Given the description of an element on the screen output the (x, y) to click on. 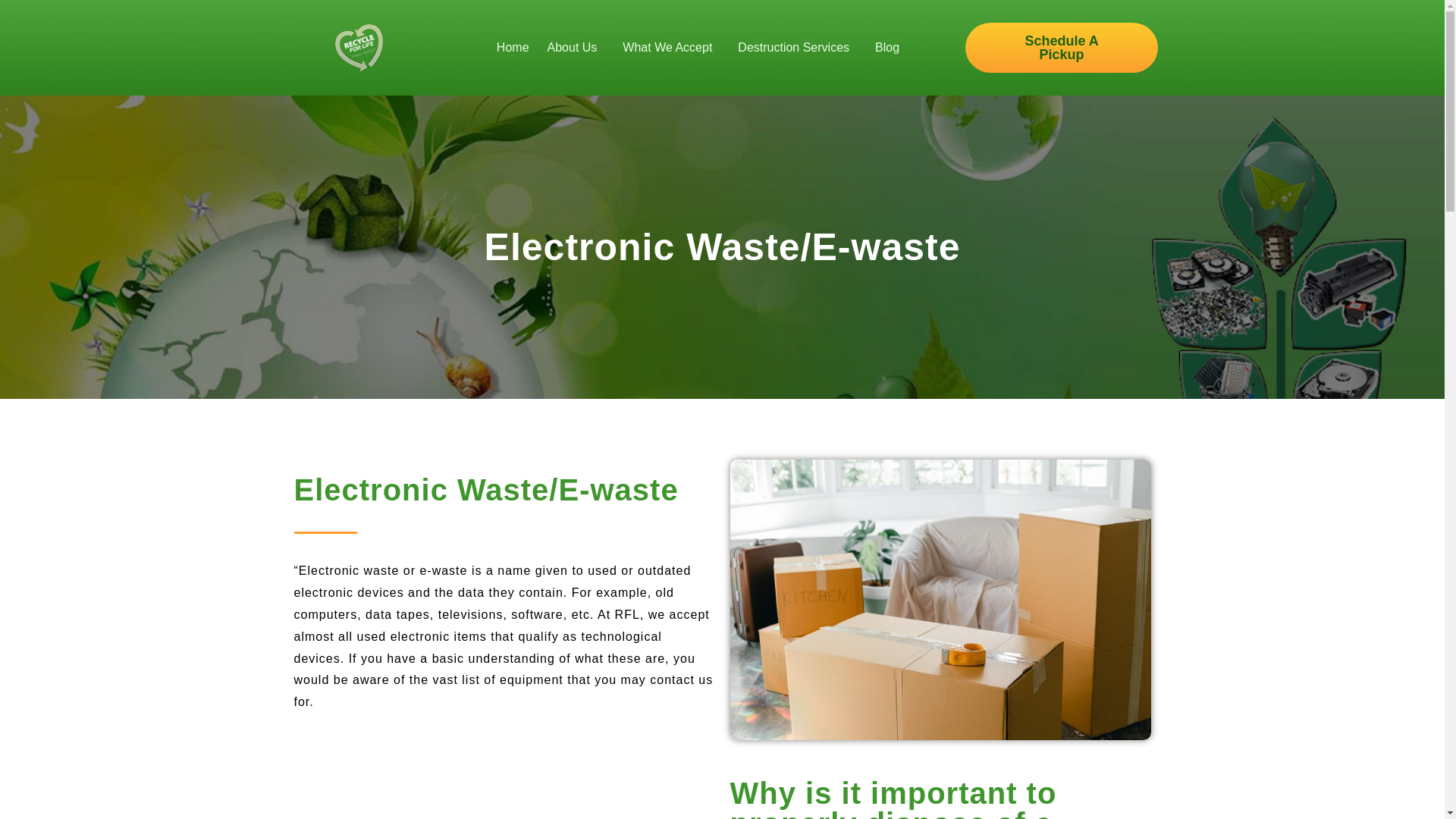
Destruction Services (797, 47)
About Us (576, 47)
Home (512, 47)
What We Accept (670, 47)
Schedule A Pickup (1061, 47)
Blog (887, 47)
